Given the description of an element on the screen output the (x, y) to click on. 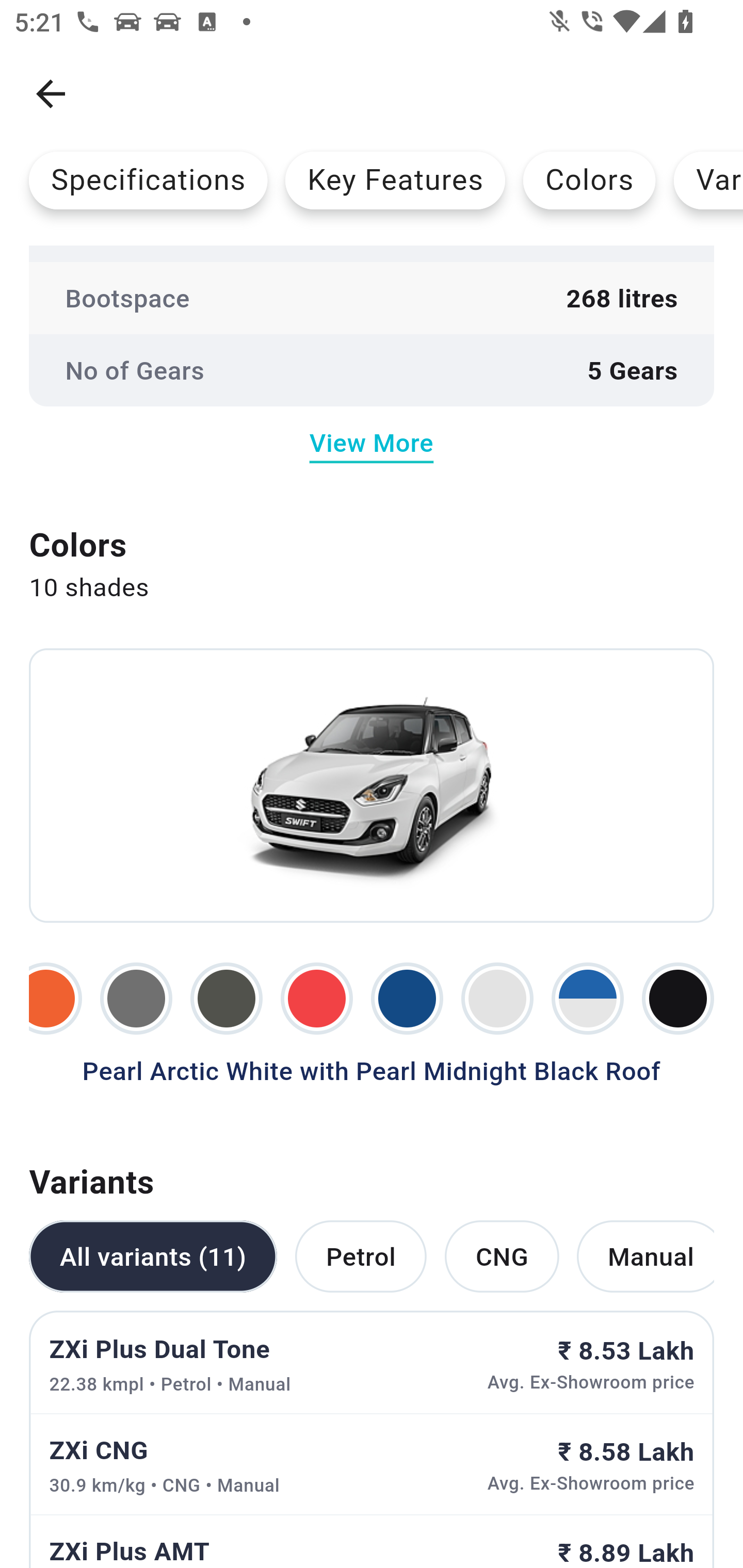
Back (50, 93)
Specifications (147, 180)
Key Features (395, 180)
Colors (589, 180)
All variants (11) (152, 1255)
Petrol (360, 1255)
CNG (501, 1255)
Manual (645, 1255)
ZXi Plus AMT
Avg. Ex-Showroom price ₹ 8.89 Lakh (371, 1541)
